Given the description of an element on the screen output the (x, y) to click on. 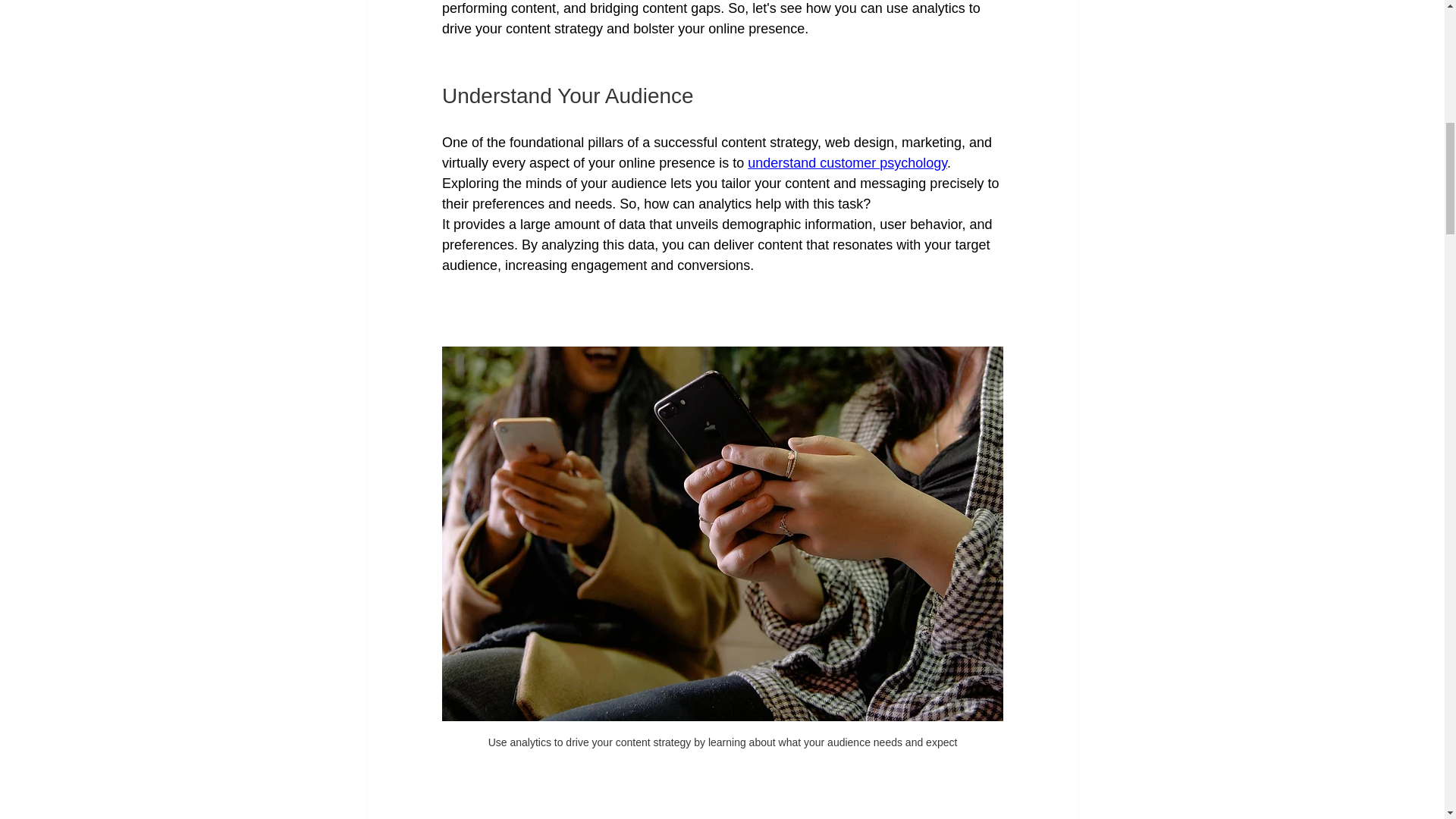
understand customer psychology (847, 162)
